Given the description of an element on the screen output the (x, y) to click on. 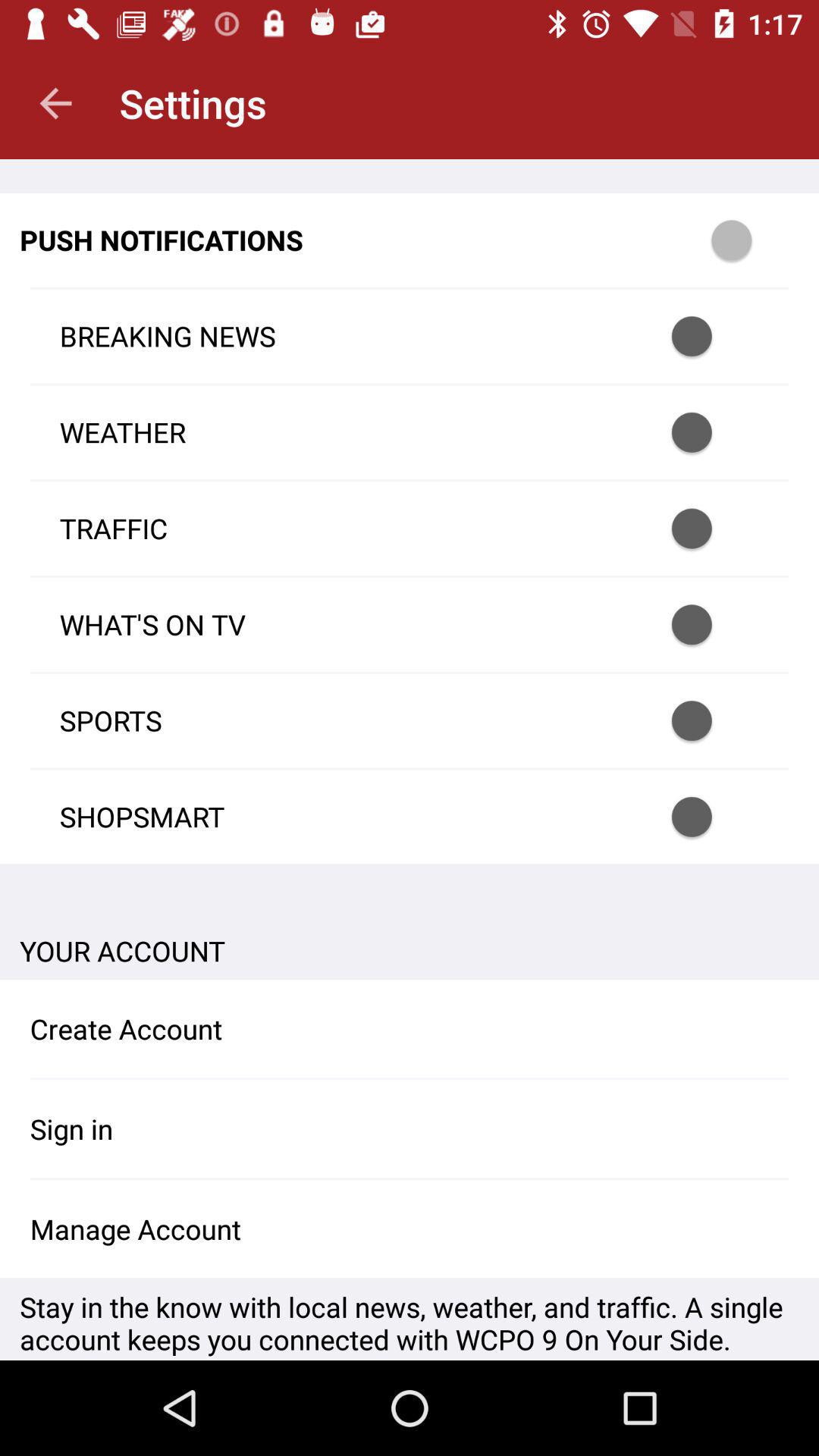
toogle weather option (711, 432)
